Given the description of an element on the screen output the (x, y) to click on. 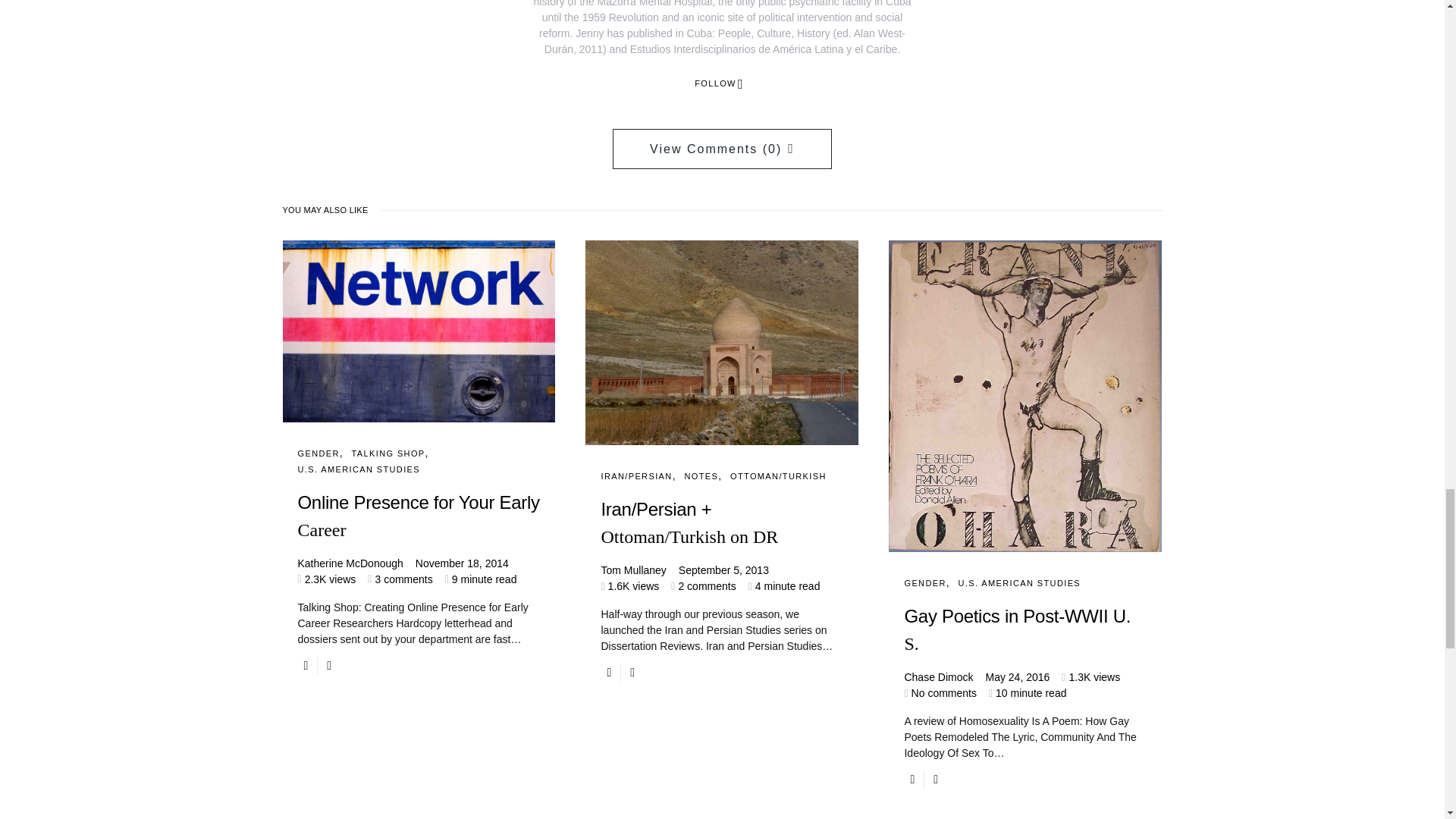
Online Presence for Your Early Career (418, 529)
View all posts by Tom Mullaney (632, 570)
View all posts by Chase Dimock (938, 677)
Gay Poetics in Post-WWII U. S. (1025, 643)
View all posts by Katherine McDonough (350, 563)
